Given the description of an element on the screen output the (x, y) to click on. 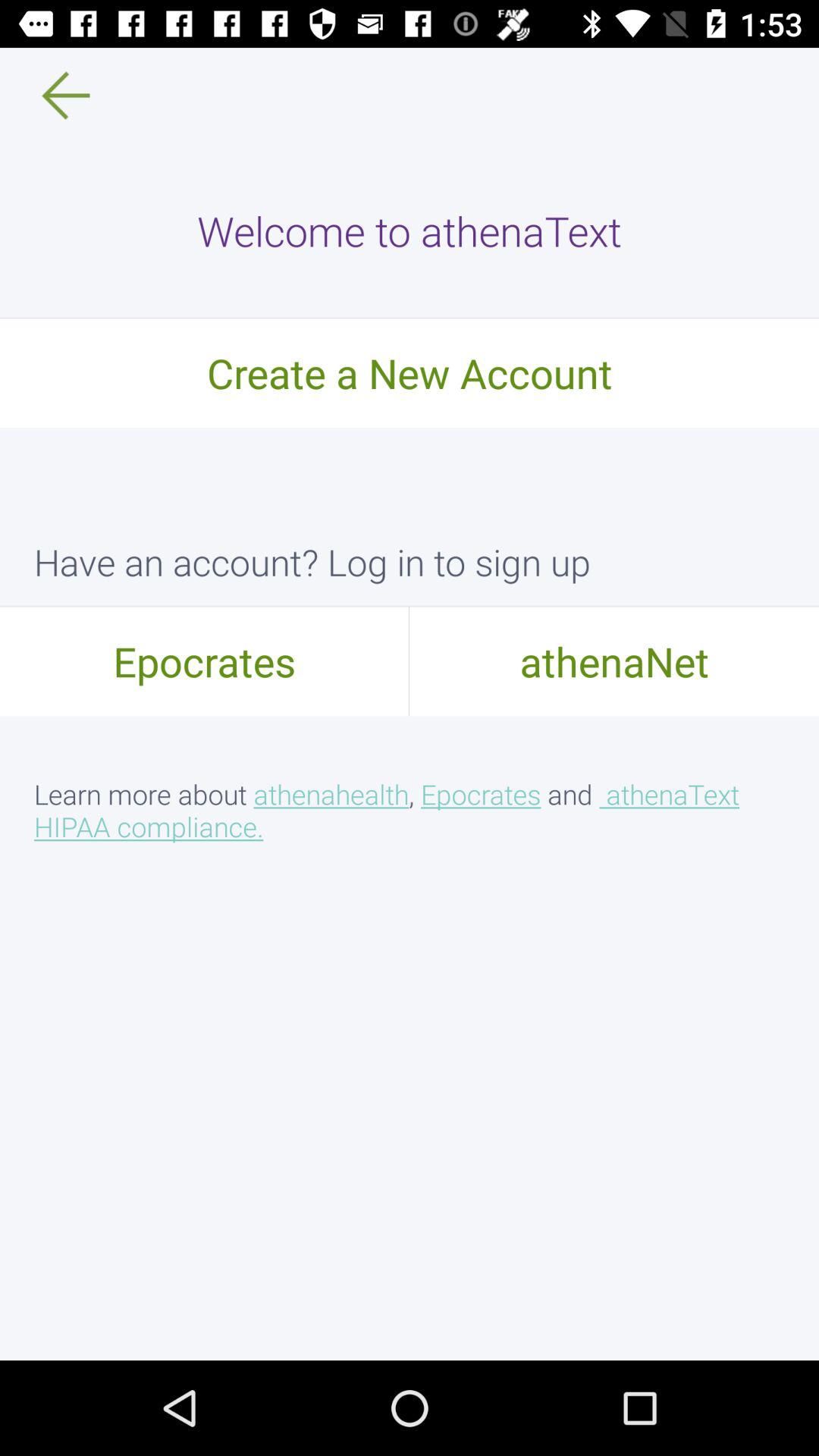
choose item above the learn more about (614, 661)
